Given the description of an element on the screen output the (x, y) to click on. 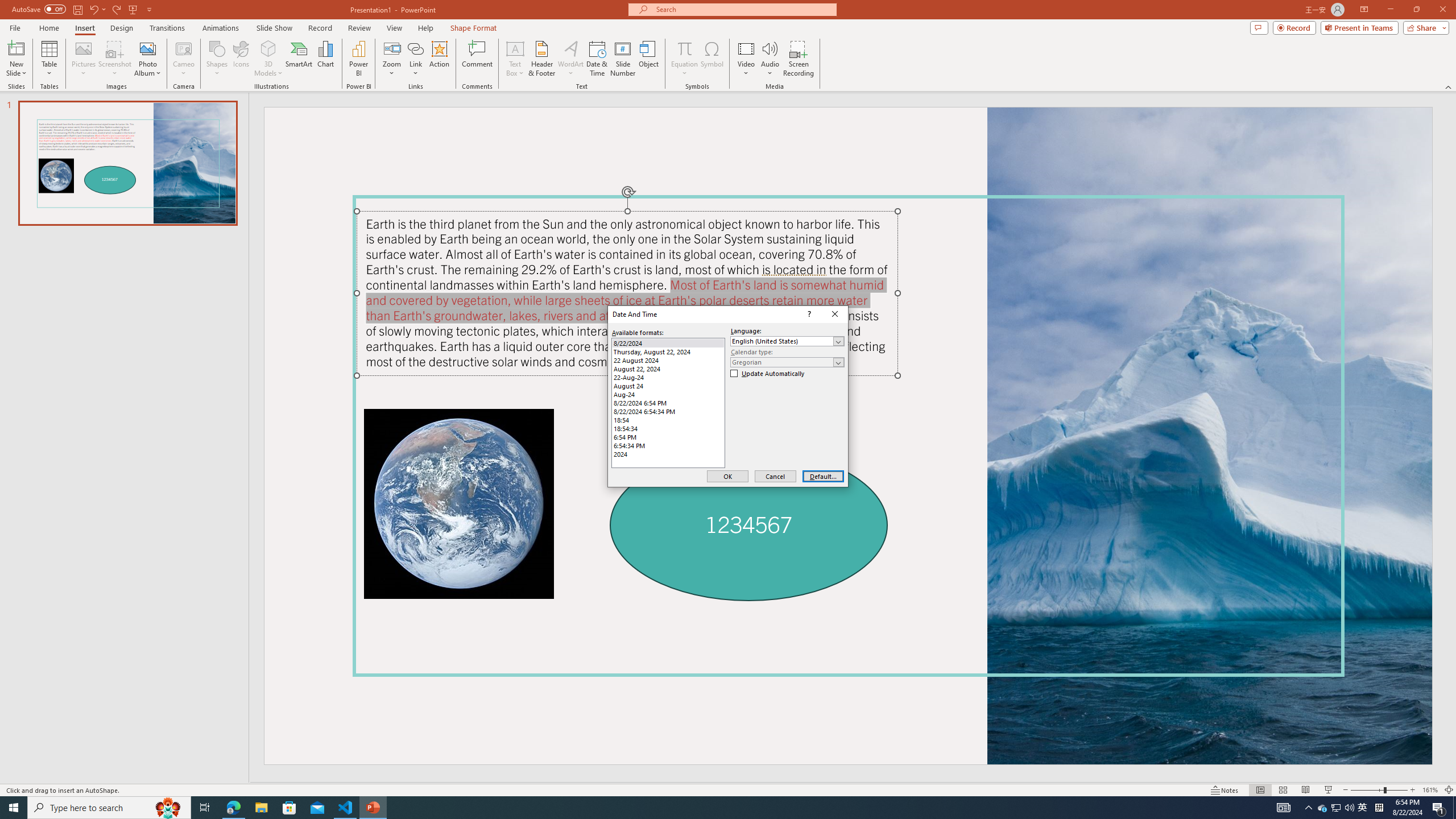
Microsoft Edge - 1 running window (233, 807)
WordArt (570, 58)
OK (727, 476)
8/22/2024 (1335, 807)
Running applications (667, 343)
Photo Album... (1322, 807)
Header & Footer... (700, 807)
Show desktop (147, 58)
